Given the description of an element on the screen output the (x, y) to click on. 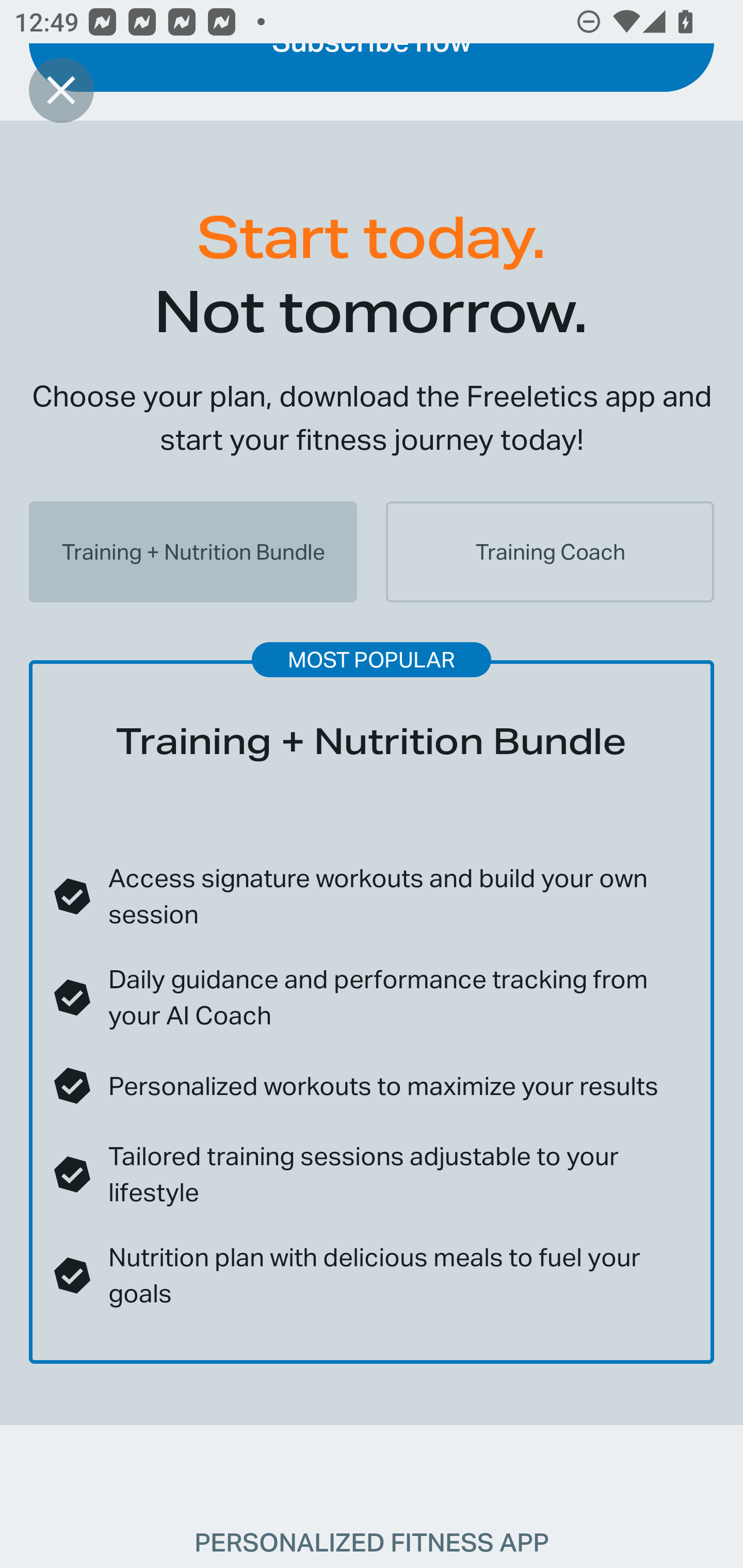
Close (60, 90)
Training + Nutrition Bundle (192, 551)
Training Coach (549, 551)
